Given the description of an element on the screen output the (x, y) to click on. 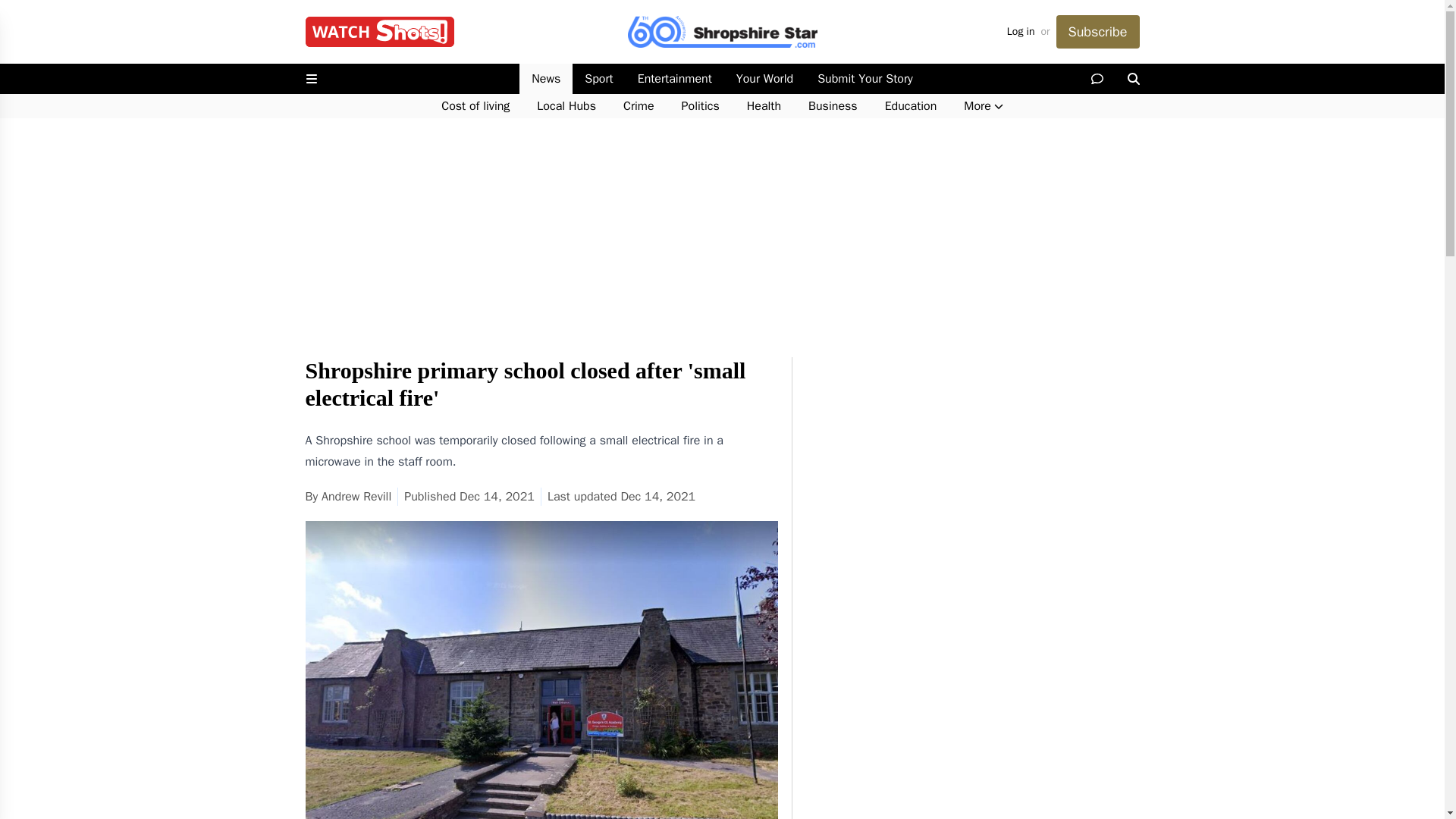
Submit Your Story (864, 78)
More (983, 105)
Education (910, 105)
Log in (1021, 31)
Health (764, 105)
Sport (598, 78)
News (545, 78)
Business (832, 105)
Your World (764, 78)
Politics (700, 105)
